Given the description of an element on the screen output the (x, y) to click on. 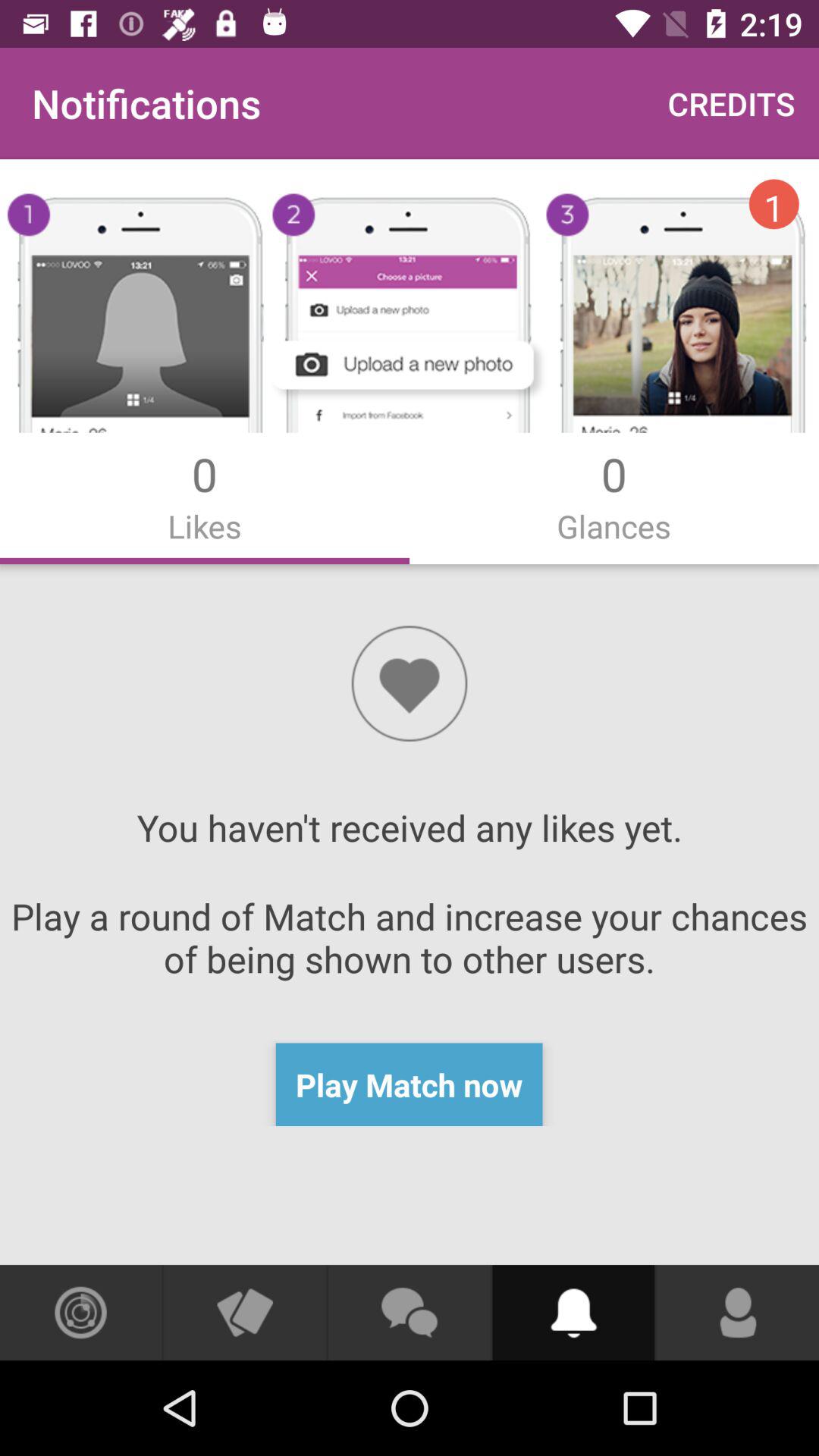
do subscribe (573, 1312)
